Given the description of an element on the screen output the (x, y) to click on. 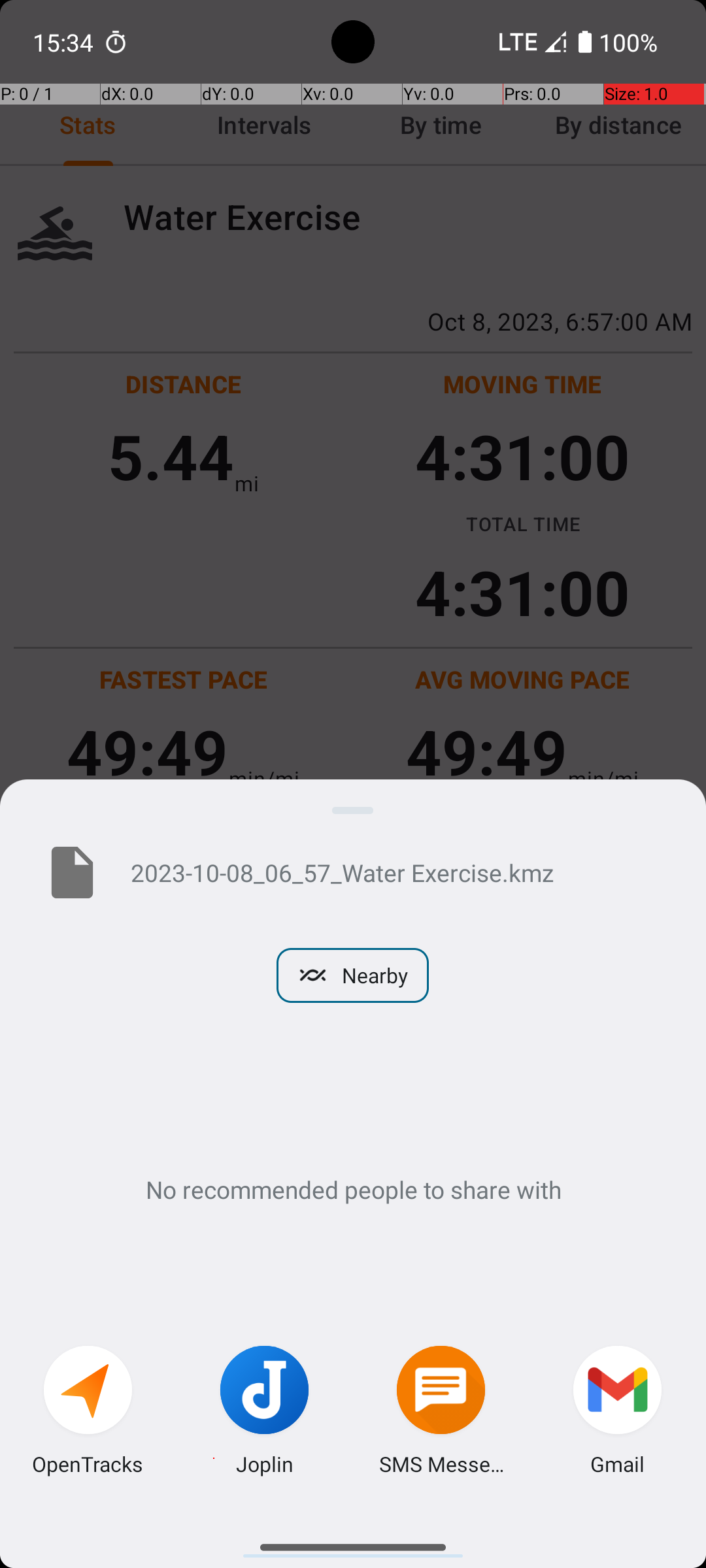
2023-10-08_06_57_Water Exercise.kmz Element type: android.widget.TextView (397, 872)
